Given the description of an element on the screen output the (x, y) to click on. 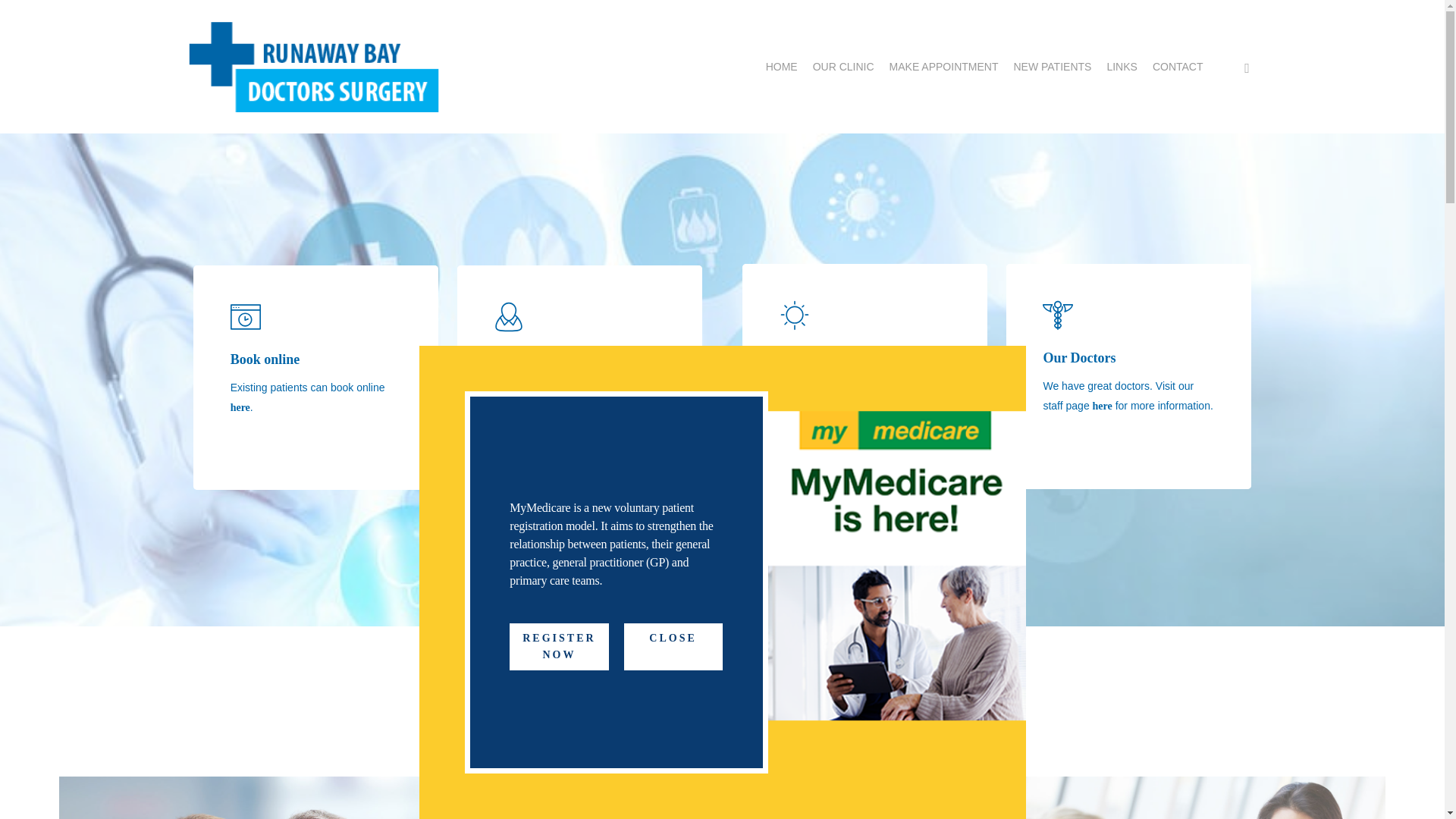
NEW PATIENTS (1051, 66)
HOME (781, 66)
OUR CLINIC (843, 66)
MAKE APPOINTMENT (943, 66)
CONTACT (1178, 66)
LINKS (1121, 66)
PHONE (1246, 66)
